Given the description of an element on the screen output the (x, y) to click on. 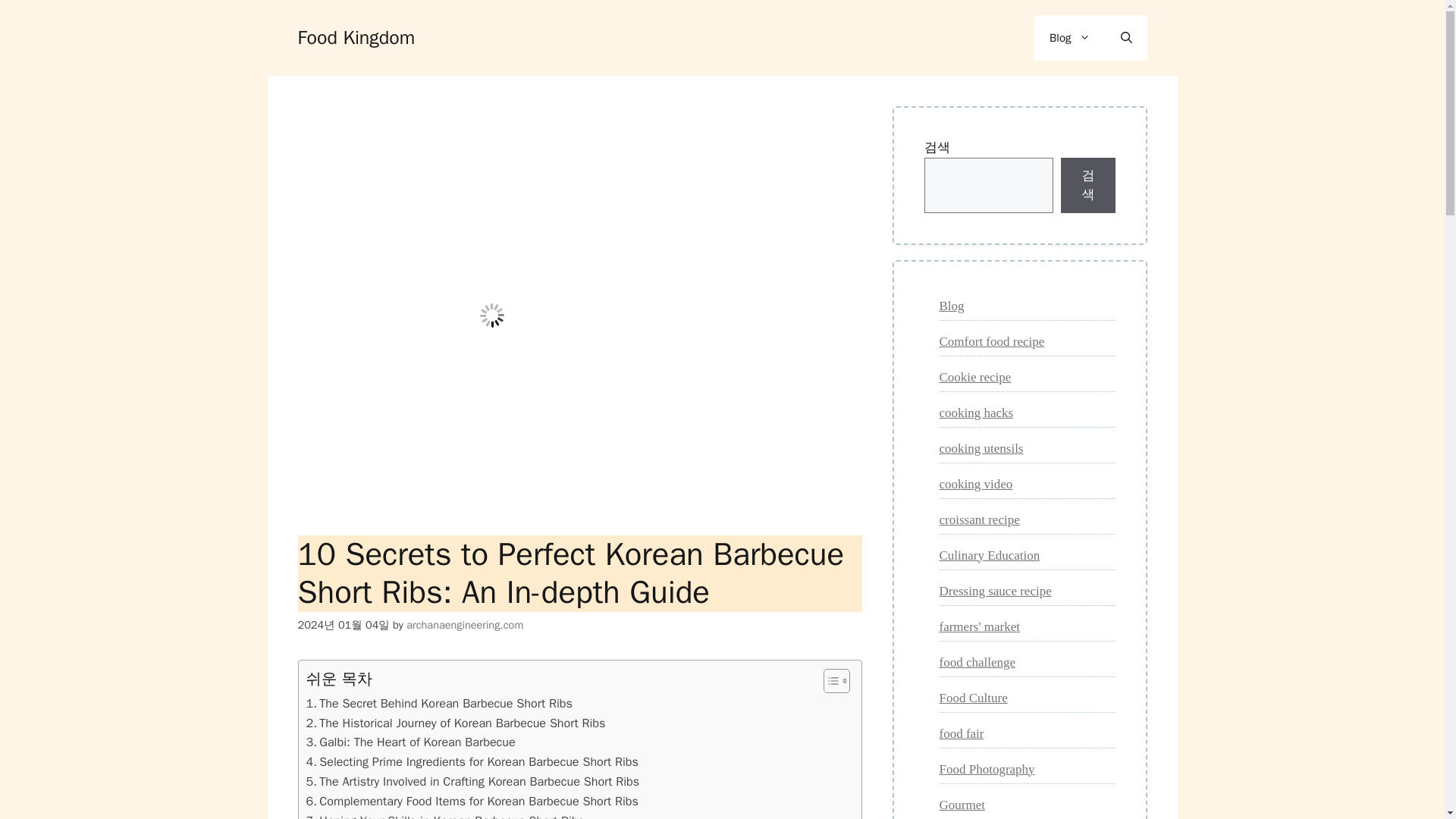
Galbi: The Heart of Korean Barbecue (410, 742)
Comfort food recipe (991, 340)
View all posts by archanaengineering.com (464, 624)
The Artistry Involved in Crafting Korean Barbecue Short Ribs (472, 781)
The Historical Journey of Korean Barbecue Short Ribs (455, 723)
The Secret Behind Korean Barbecue Short Ribs (438, 703)
cooking utensils (981, 448)
Blog (951, 305)
Selecting Prime Ingredients for Korean Barbecue Short Ribs (472, 762)
Honing Your Skills in Korean Barbecue Short Ribs (445, 815)
The Secret Behind Korean Barbecue Short Ribs (438, 703)
Selecting Prime Ingredients for Korean Barbecue Short Ribs (472, 762)
Galbi: The Heart of Korean Barbecue (410, 742)
Blog (1069, 37)
The Artistry Involved in Crafting Korean Barbecue Short Ribs (472, 781)
